Given the description of an element on the screen output the (x, y) to click on. 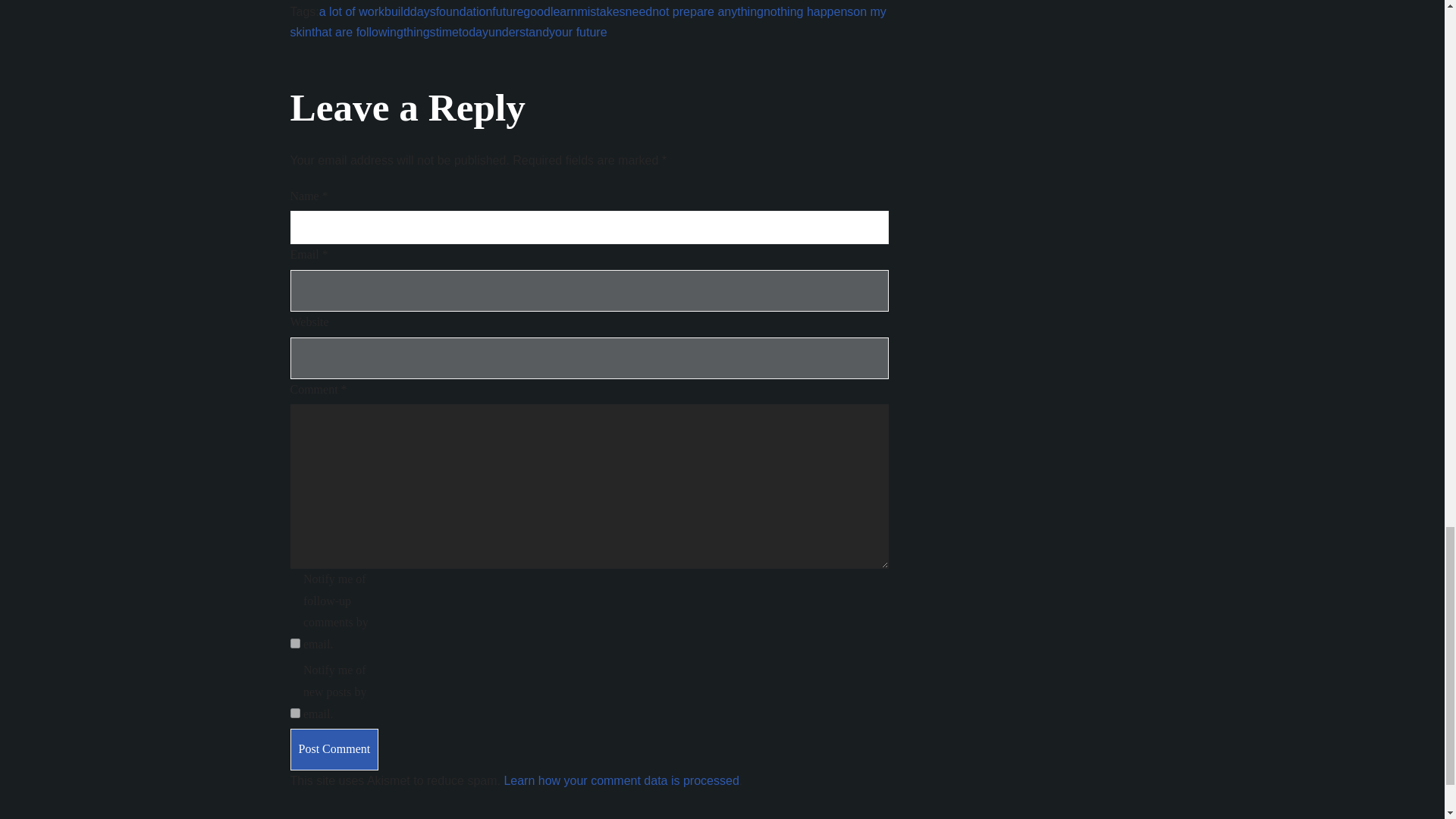
Post Comment (333, 749)
subscribe (294, 643)
subscribe (294, 713)
